Given the description of an element on the screen output the (x, y) to click on. 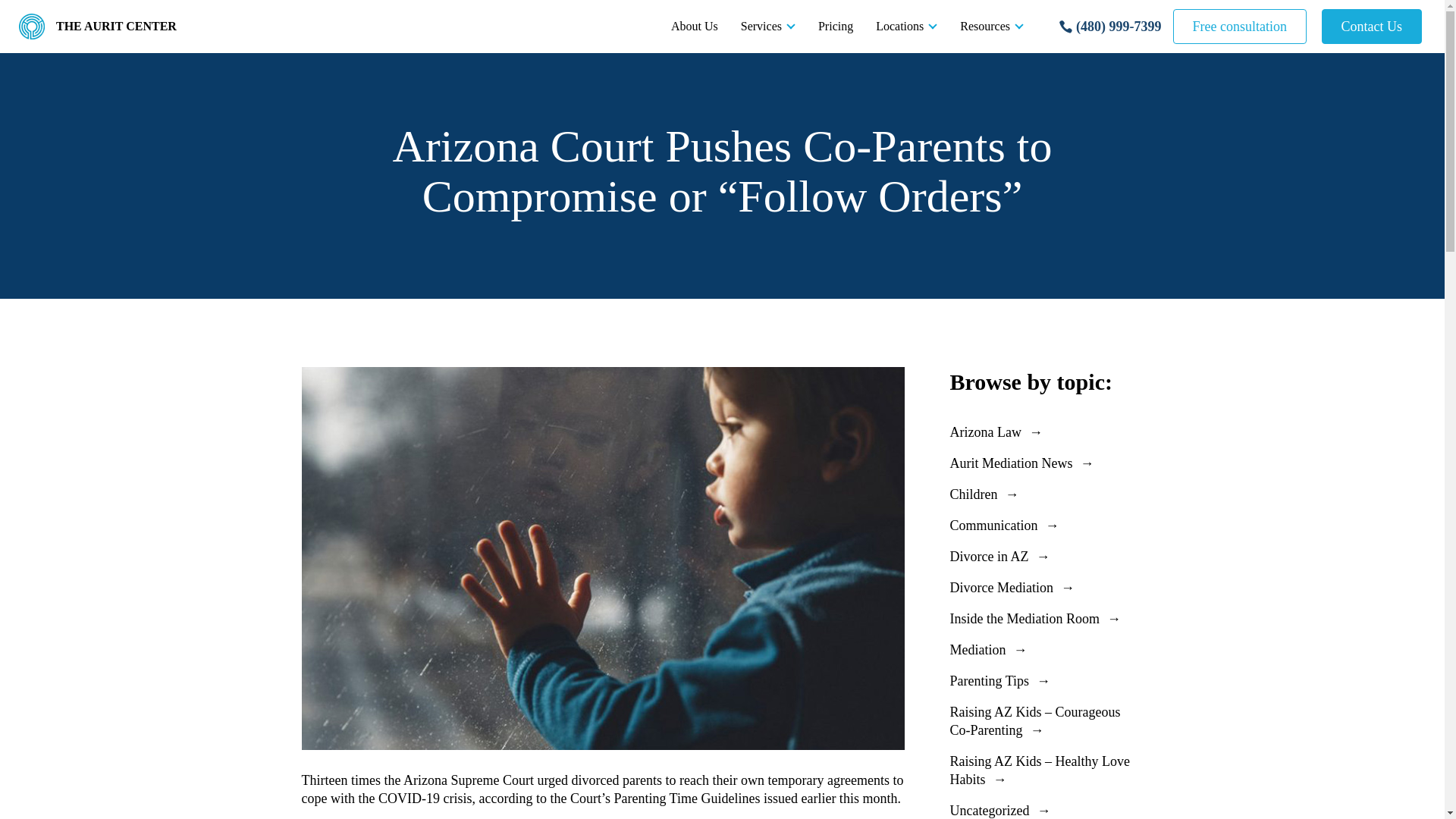
Divorce in AZ (1045, 556)
Locations (906, 26)
Inside the Mediation Room (1045, 618)
Arizona Law (1045, 432)
Contact Us (1371, 26)
Free consultation (1239, 26)
Children (1045, 493)
Resources (992, 26)
THE AURIT CENTER (97, 25)
Services (767, 26)
Pricing (835, 26)
About Us (694, 26)
Mediation (1045, 649)
Aurit Mediation News (1045, 462)
Divorce Mediation (1045, 587)
